Given the description of an element on the screen output the (x, y) to click on. 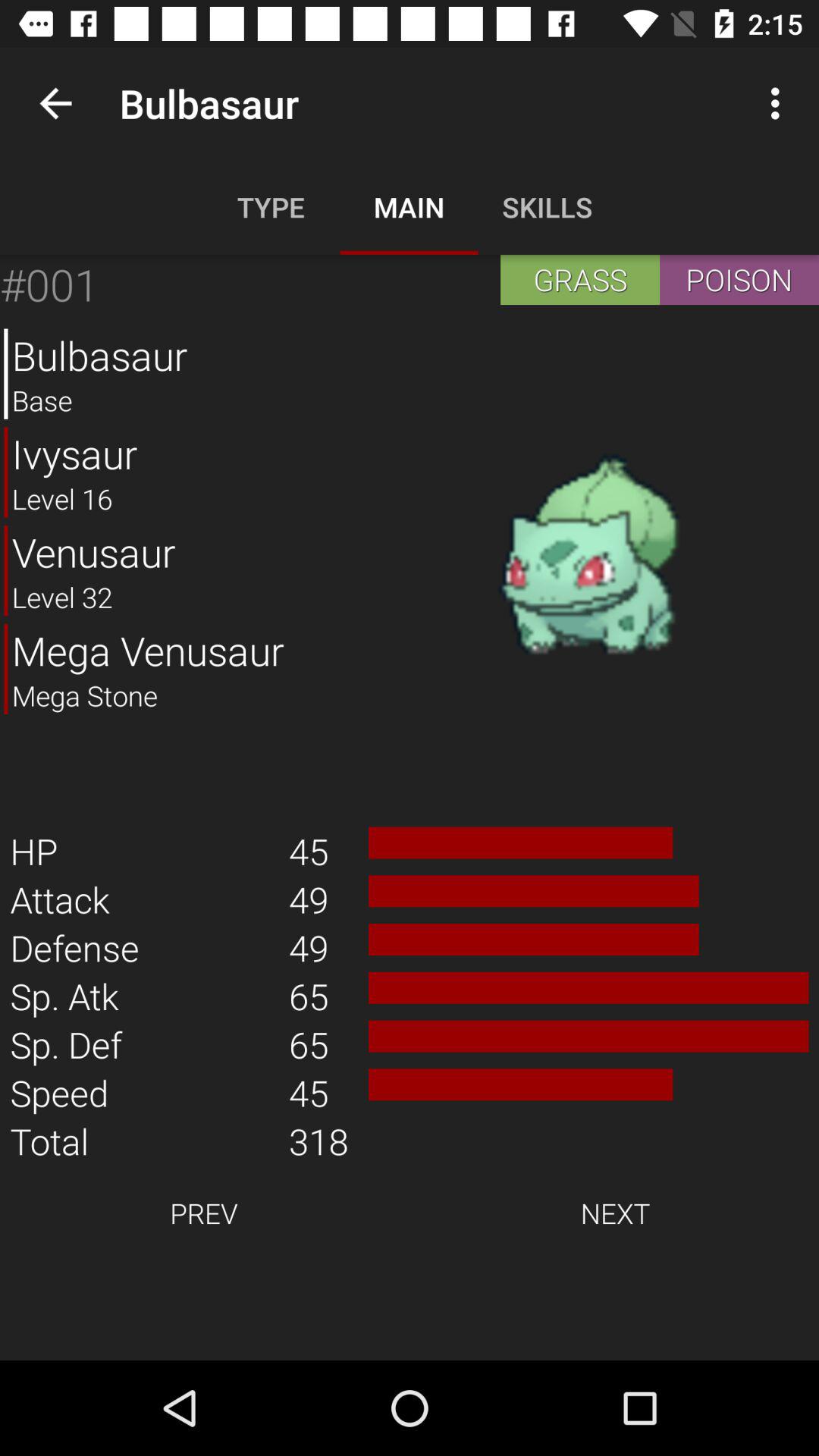
choose the item above #001 item (55, 103)
